Given the description of an element on the screen output the (x, y) to click on. 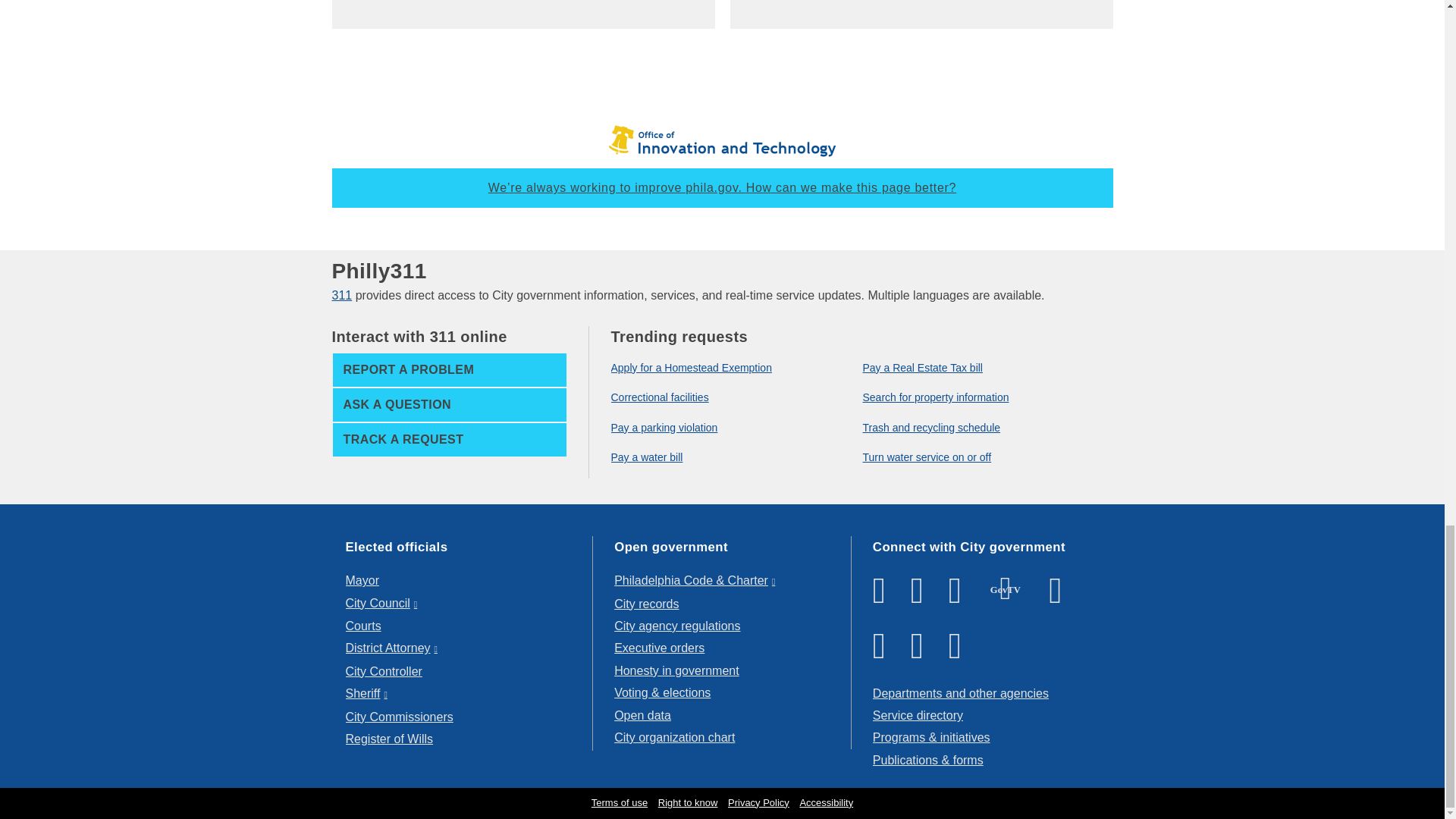
TV (1006, 588)
